Given the description of an element on the screen output the (x, y) to click on. 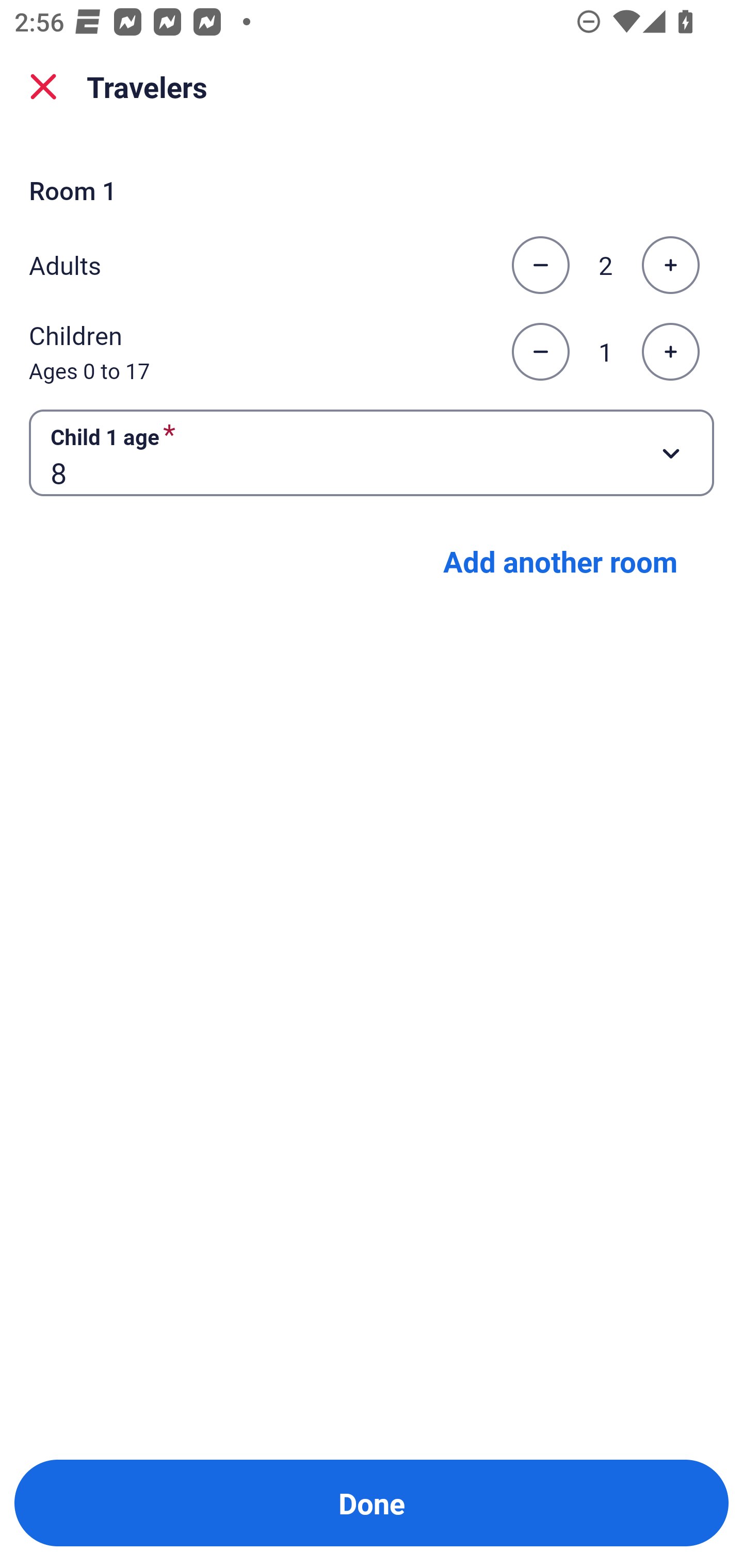
close (43, 86)
Decrease the number of adults (540, 264)
Increase the number of adults (670, 264)
Decrease the number of children (540, 351)
Increase the number of children (670, 351)
Child 1 age required Button 8 (371, 452)
Add another room (560, 561)
Done (371, 1502)
